Given the description of an element on the screen output the (x, y) to click on. 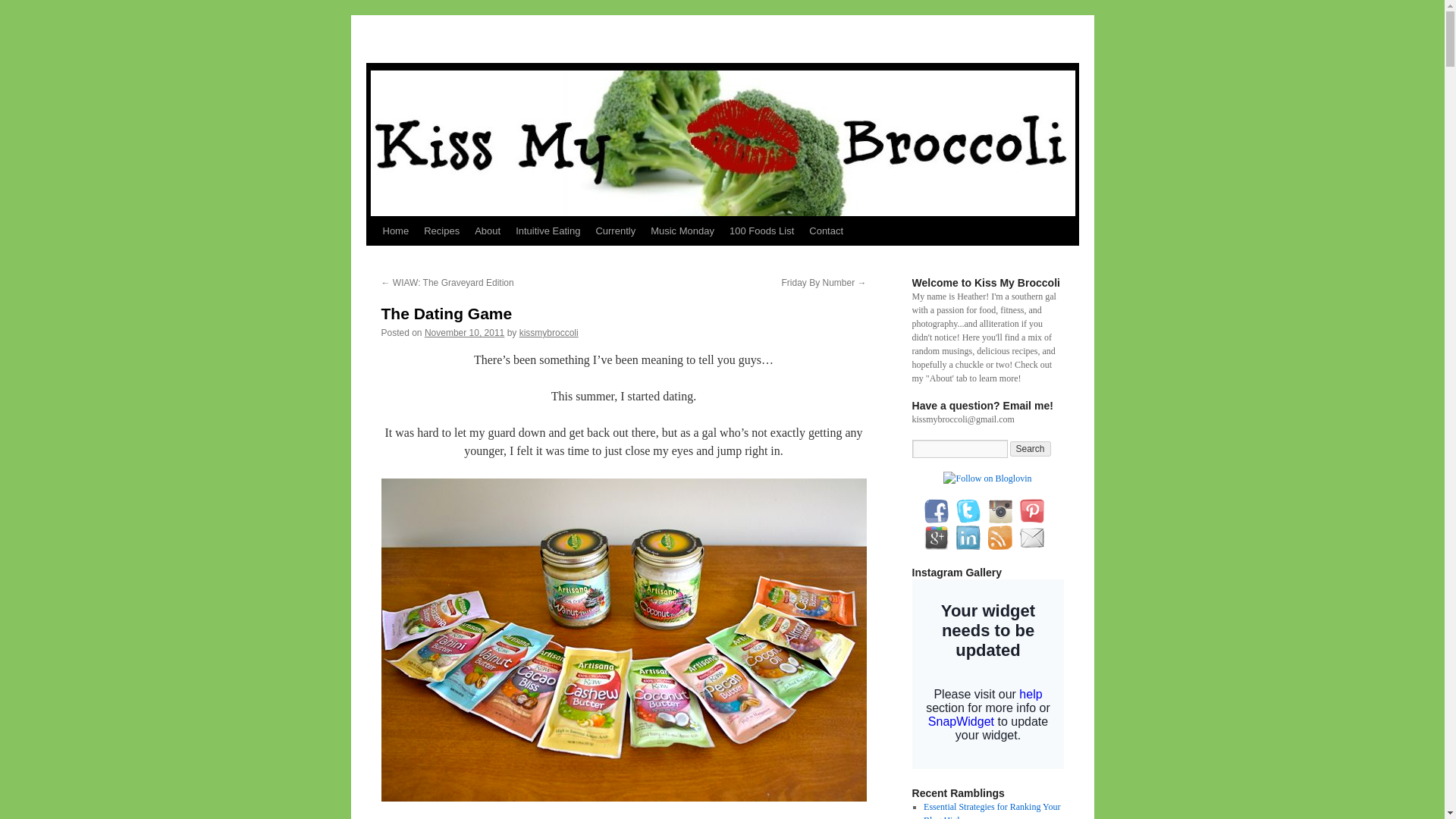
Follow Us on Facebook (935, 510)
kissmybroccoli (548, 332)
4:42 PM (464, 332)
Follow Us on Twitter (967, 510)
Intuitive Eating (548, 231)
Follow Kiss My Broccoli on Bloglovin (986, 478)
Home (395, 231)
November 10, 2011 (464, 332)
Currently (615, 231)
Music Monday (682, 231)
